Given the description of an element on the screen output the (x, y) to click on. 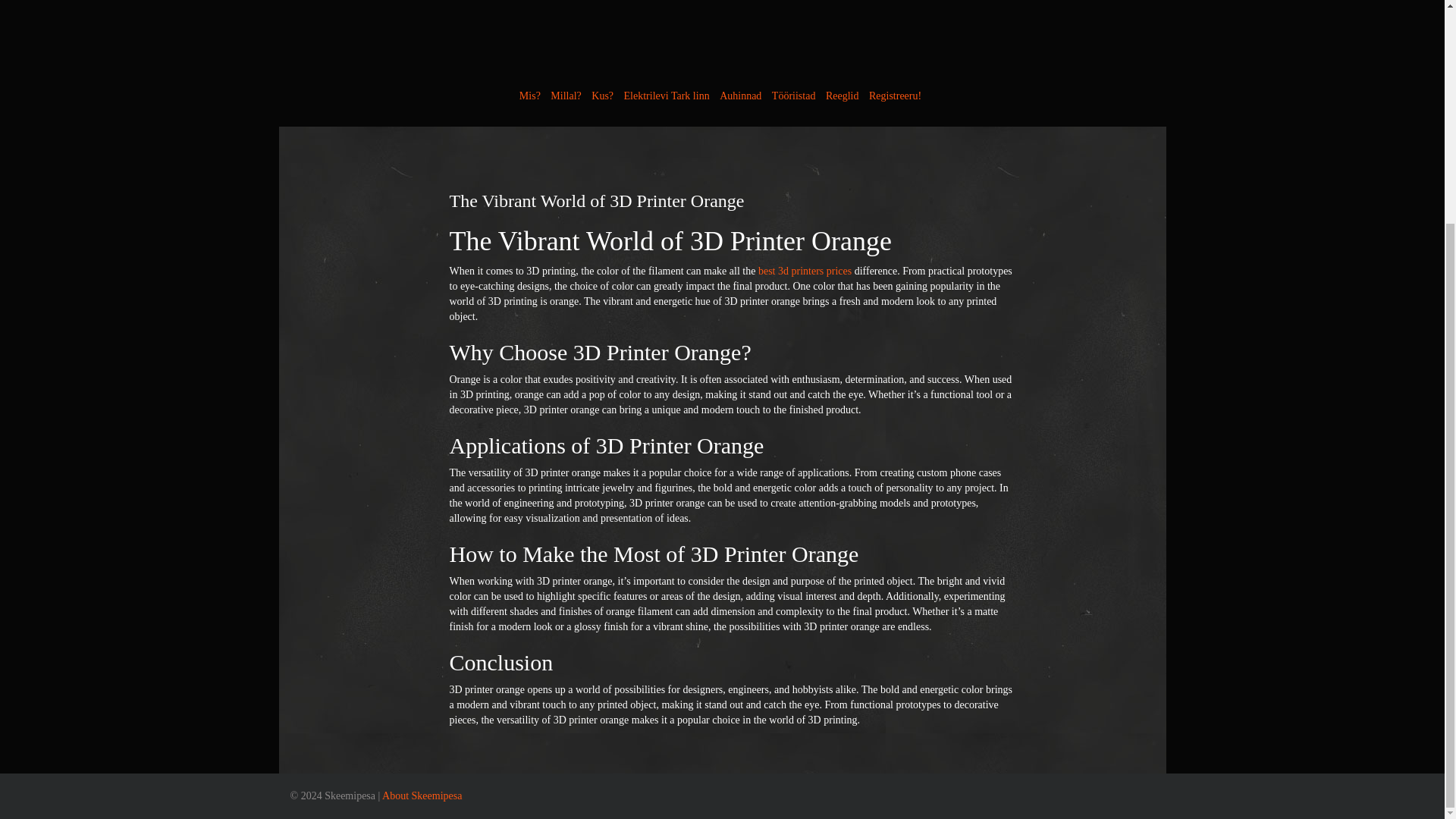
Kus? (601, 95)
Registreeru! (895, 95)
Millal? (565, 95)
Mis? (529, 95)
best 3d printers prices (804, 270)
Reeglid (842, 95)
Kus? (601, 95)
Auhinnad (740, 95)
Auhinnad (740, 95)
Mis? (529, 95)
